Given the description of an element on the screen output the (x, y) to click on. 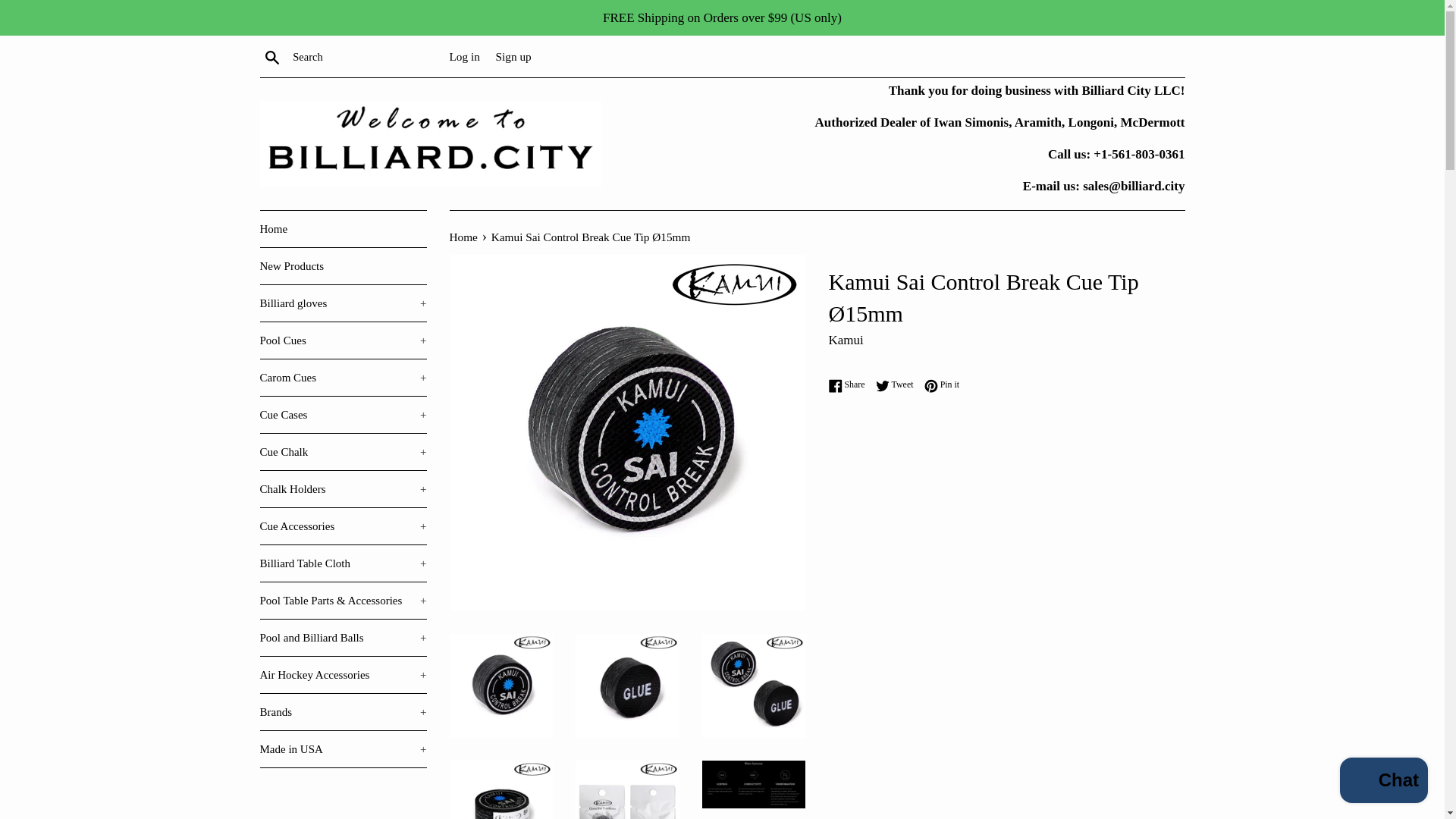
Shopify online store chat (1383, 781)
Tweet on Twitter (898, 384)
New Products (342, 266)
Search (271, 56)
Sign up (513, 56)
Back to the frontpage (464, 236)
Pin on Pinterest (941, 384)
Share on Facebook (850, 384)
Log in (463, 56)
Home (342, 228)
